Given the description of an element on the screen output the (x, y) to click on. 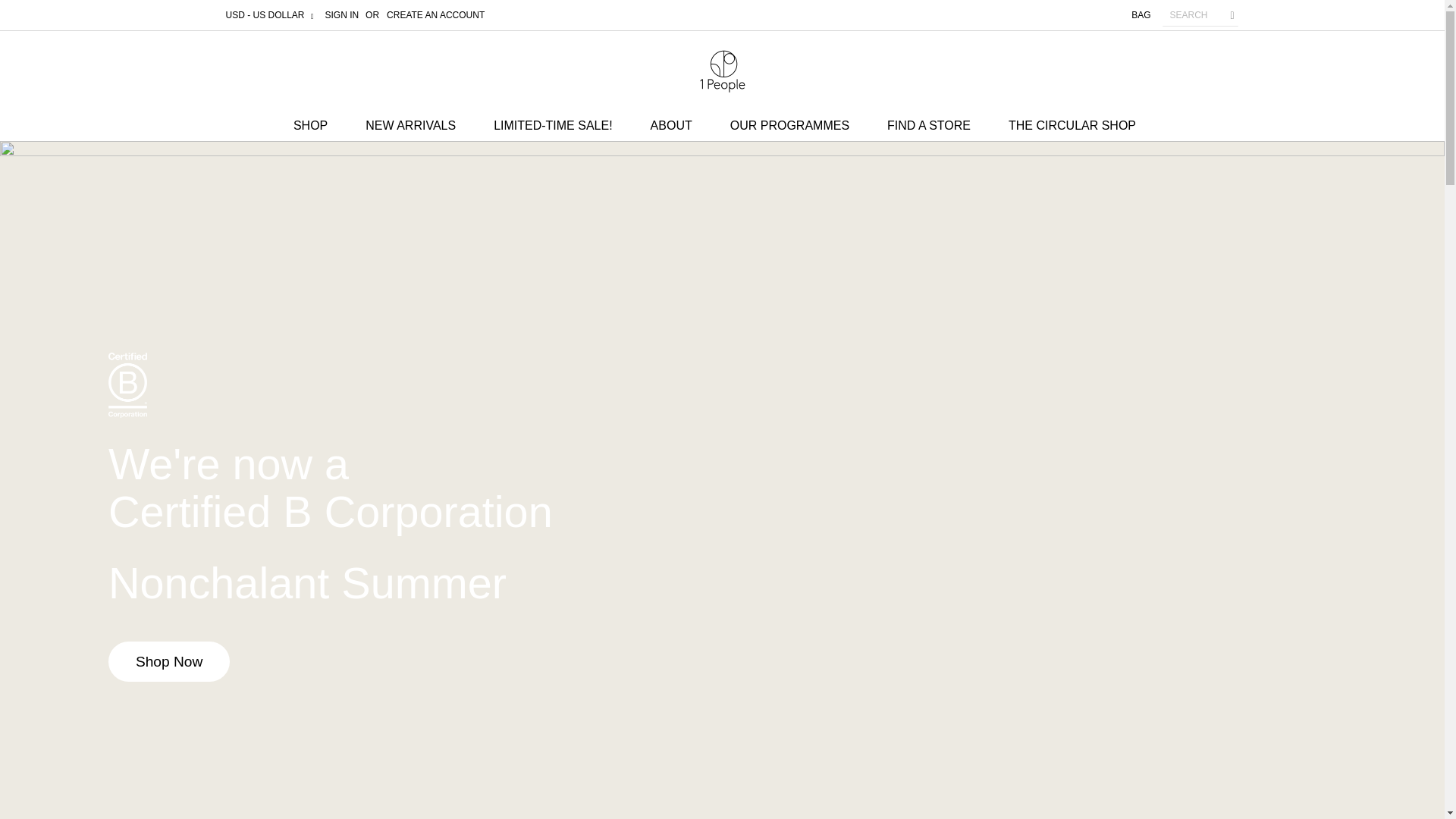
SHOP (318, 125)
SIGN IN (341, 15)
CREATE AN ACCOUNT (435, 15)
1 People (721, 70)
BAG (1140, 14)
Shop Now (168, 661)
